Given the description of an element on the screen output the (x, y) to click on. 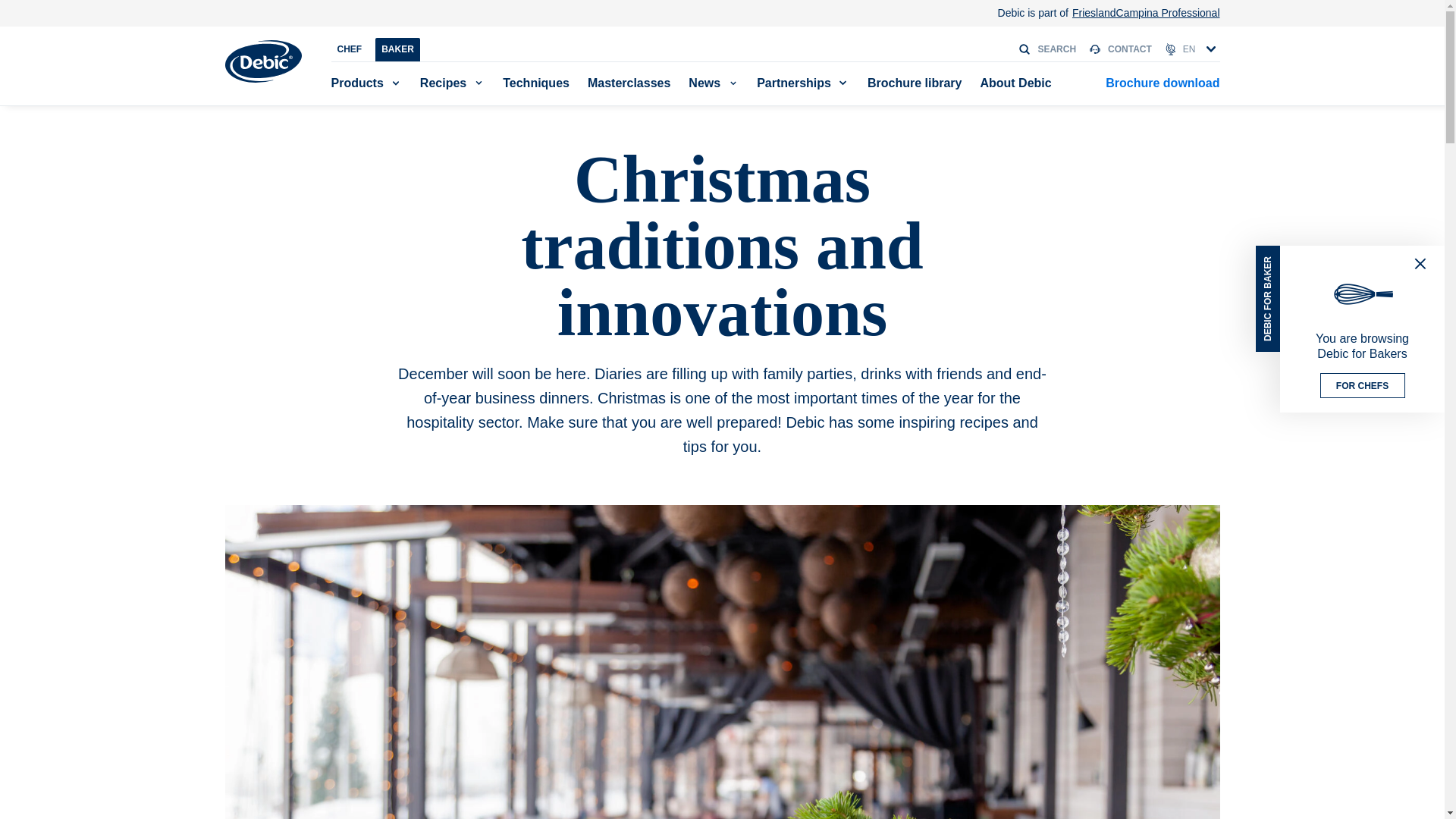
EN (1192, 49)
FrieslandCampina Professional (1145, 12)
CHEF (349, 49)
BAKER (397, 49)
Products (358, 83)
CONTACT (1120, 49)
Home (262, 61)
SEARCH (1046, 49)
